Given the description of an element on the screen output the (x, y) to click on. 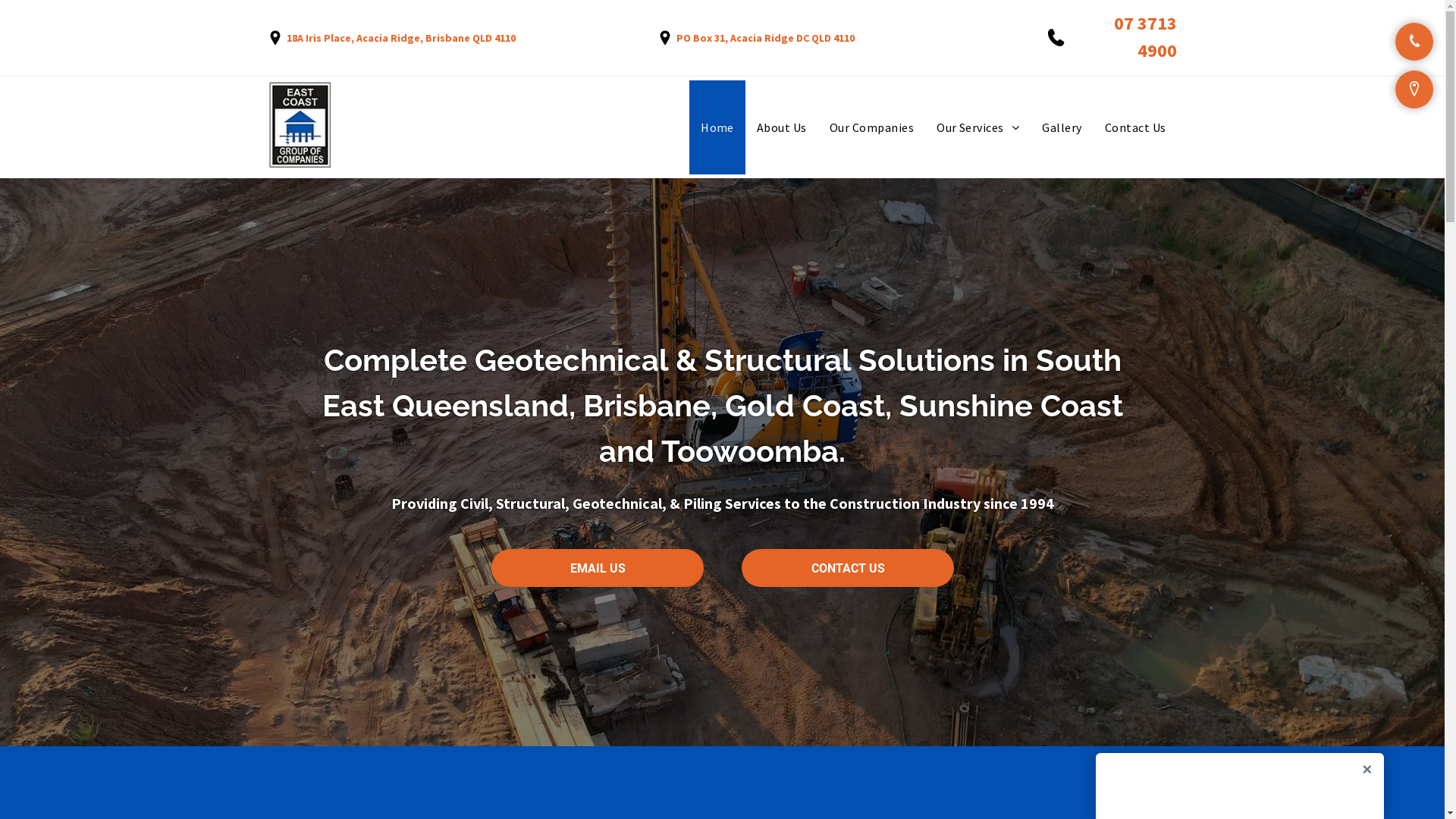
EMAIL US Element type: text (597, 567)
PO Box 31, Acacia Ridge DC QLD 4110 Element type: text (765, 36)
Our Services Element type: text (977, 127)
Our Companies Element type: text (871, 127)
18A Iris Place, Acacia Ridge, Brisbane QLD 4110 Element type: text (400, 36)
Gallery Element type: text (1061, 127)
East Coast Group of Companies Element type: hover (298, 124)
CONTACT US Element type: text (847, 567)
Contact Us Element type: text (1135, 127)
07 3713 4900 Element type: text (1144, 36)
About Us Element type: text (781, 127)
Home Element type: text (717, 127)
